Given the description of an element on the screen output the (x, y) to click on. 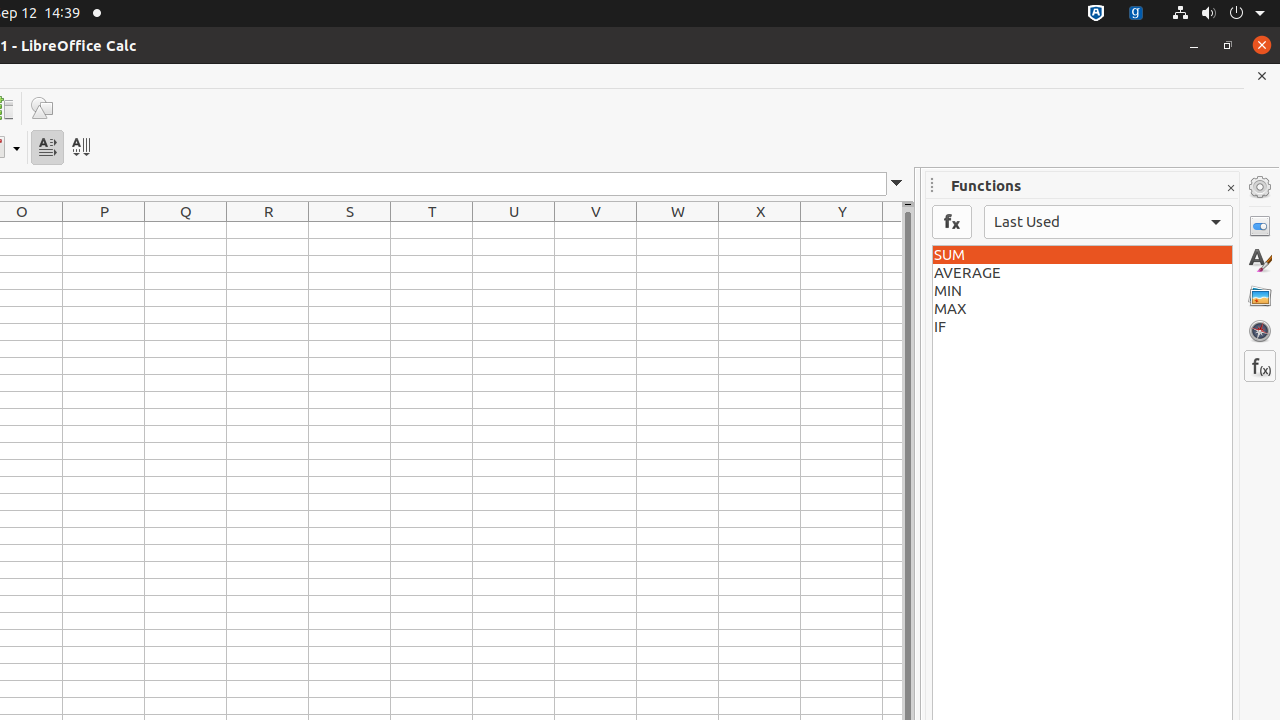
V1 Element type: table-cell (596, 230)
R1 Element type: table-cell (268, 230)
Navigator Element type: radio-button (1260, 331)
Insert Function into calculation sheet Element type: push-button (952, 222)
SUM Element type: list-item (1082, 255)
